Given the description of an element on the screen output the (x, y) to click on. 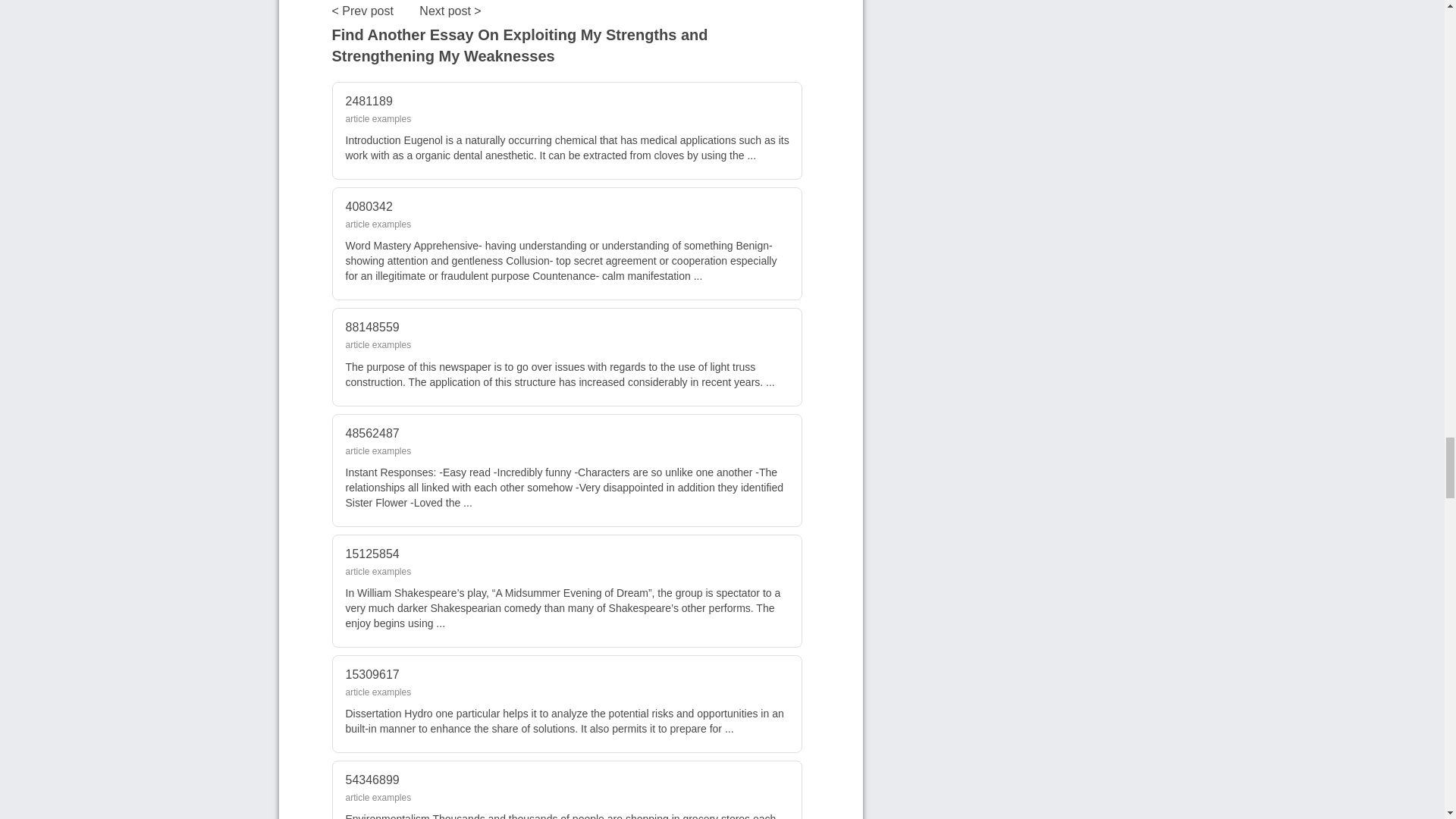
article examples (379, 450)
article examples (379, 344)
2481189 (369, 101)
article examples (379, 118)
article examples (379, 797)
15309617 (372, 674)
article examples (379, 692)
4080342 (369, 205)
48562487 (372, 431)
54346899 (372, 779)
